Given the description of an element on the screen output the (x, y) to click on. 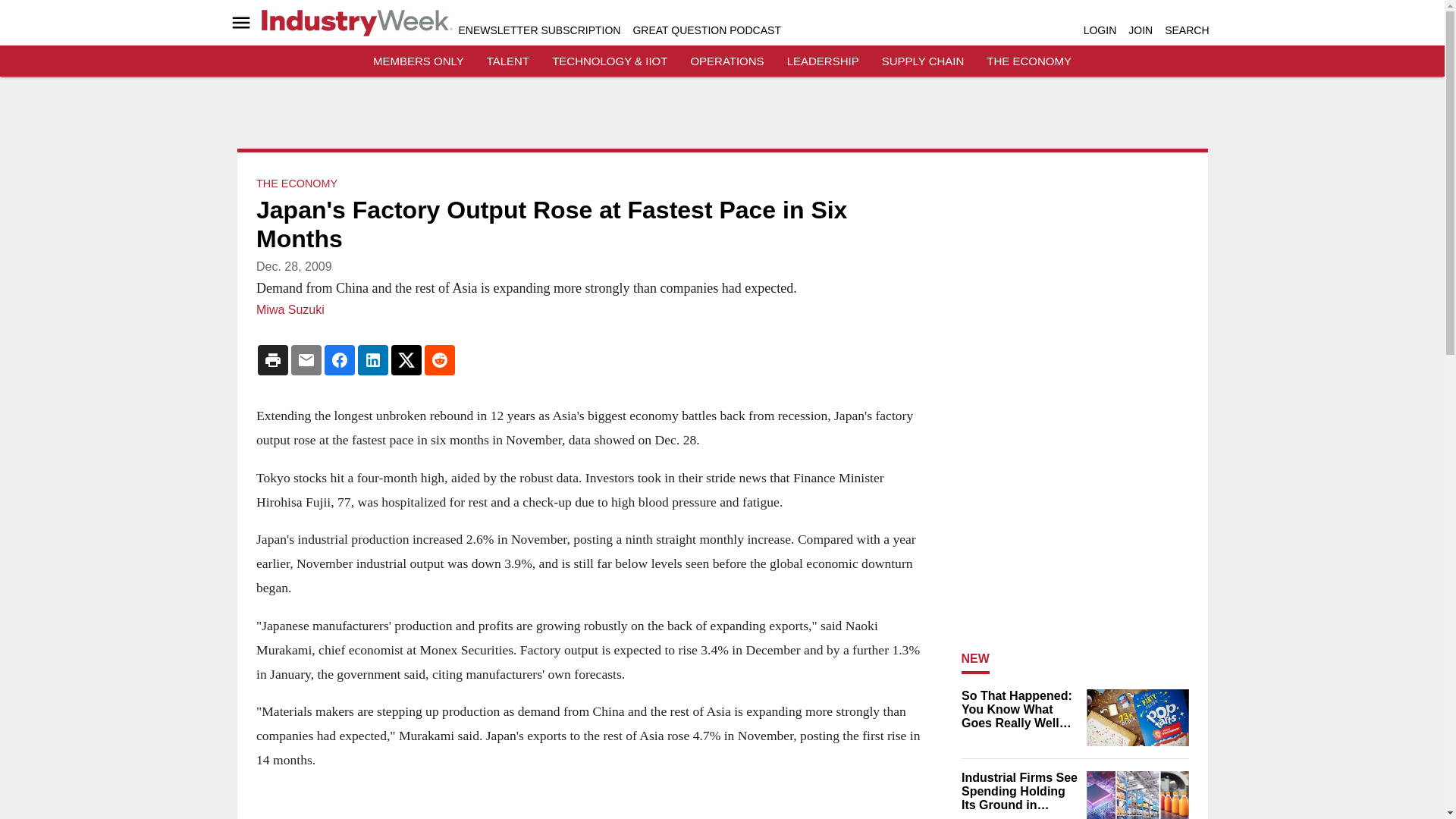
JOIN (1140, 30)
GREAT QUESTION PODCAST (705, 30)
MEMBERS ONLY (418, 60)
OPERATIONS (726, 60)
SEARCH (1186, 30)
LEADERSHIP (823, 60)
SUPPLY CHAIN (922, 60)
ENEWSLETTER SUBSCRIPTION (539, 30)
TALENT (507, 60)
THE ECONOMY (1029, 60)
